Given the description of an element on the screen output the (x, y) to click on. 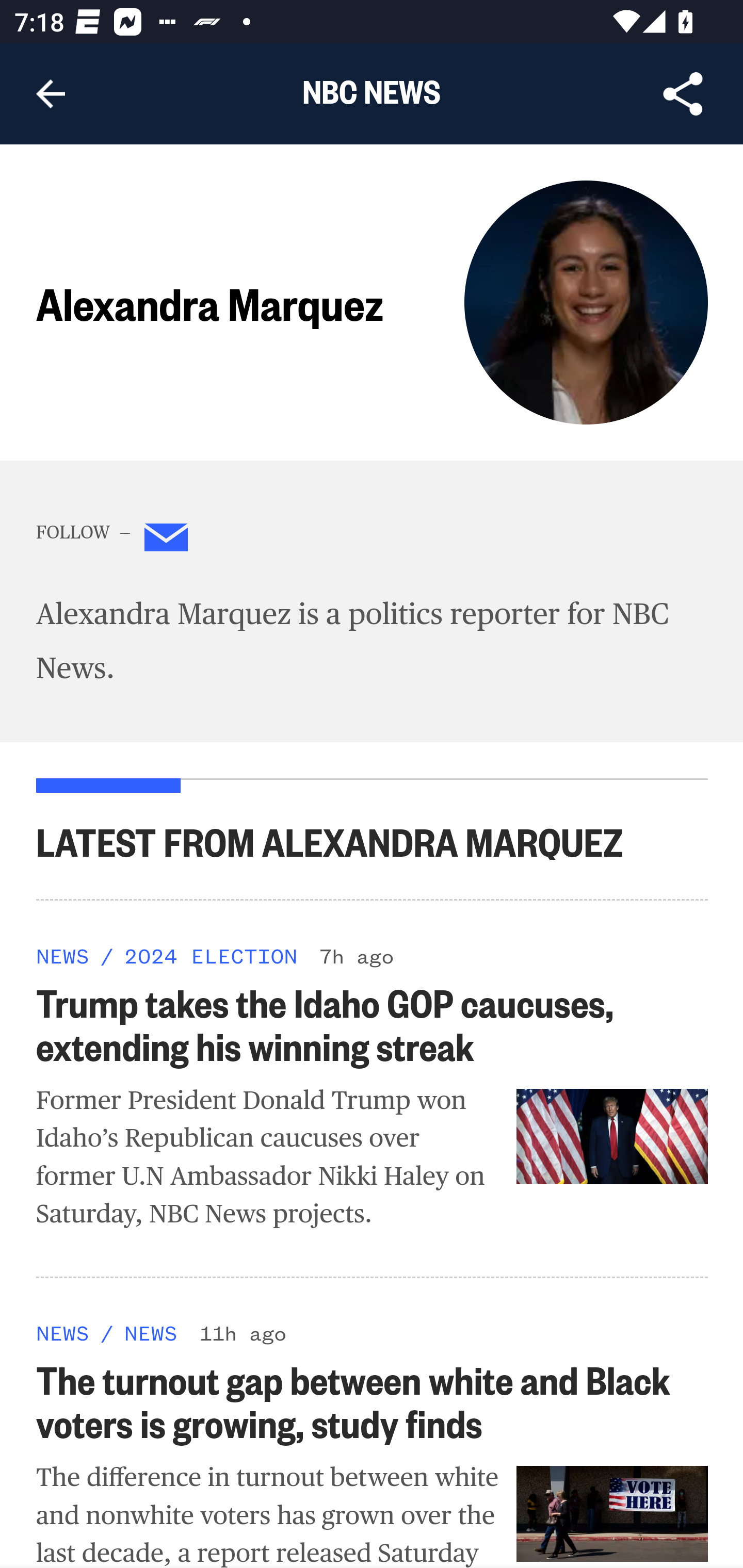
Navigate up (50, 93)
Share Article, button (683, 94)
 (166, 540)
NEWS NEWS NEWS (63, 954)
2024 ELECTION 2024 ELECTION 2024 ELECTION (209, 954)
idaho-republican-caucus-trump-win-rcna140419 (612, 1134)
NEWS NEWS NEWS (63, 1332)
NEWS NEWS NEWS (150, 1332)
